Given the description of an element on the screen output the (x, y) to click on. 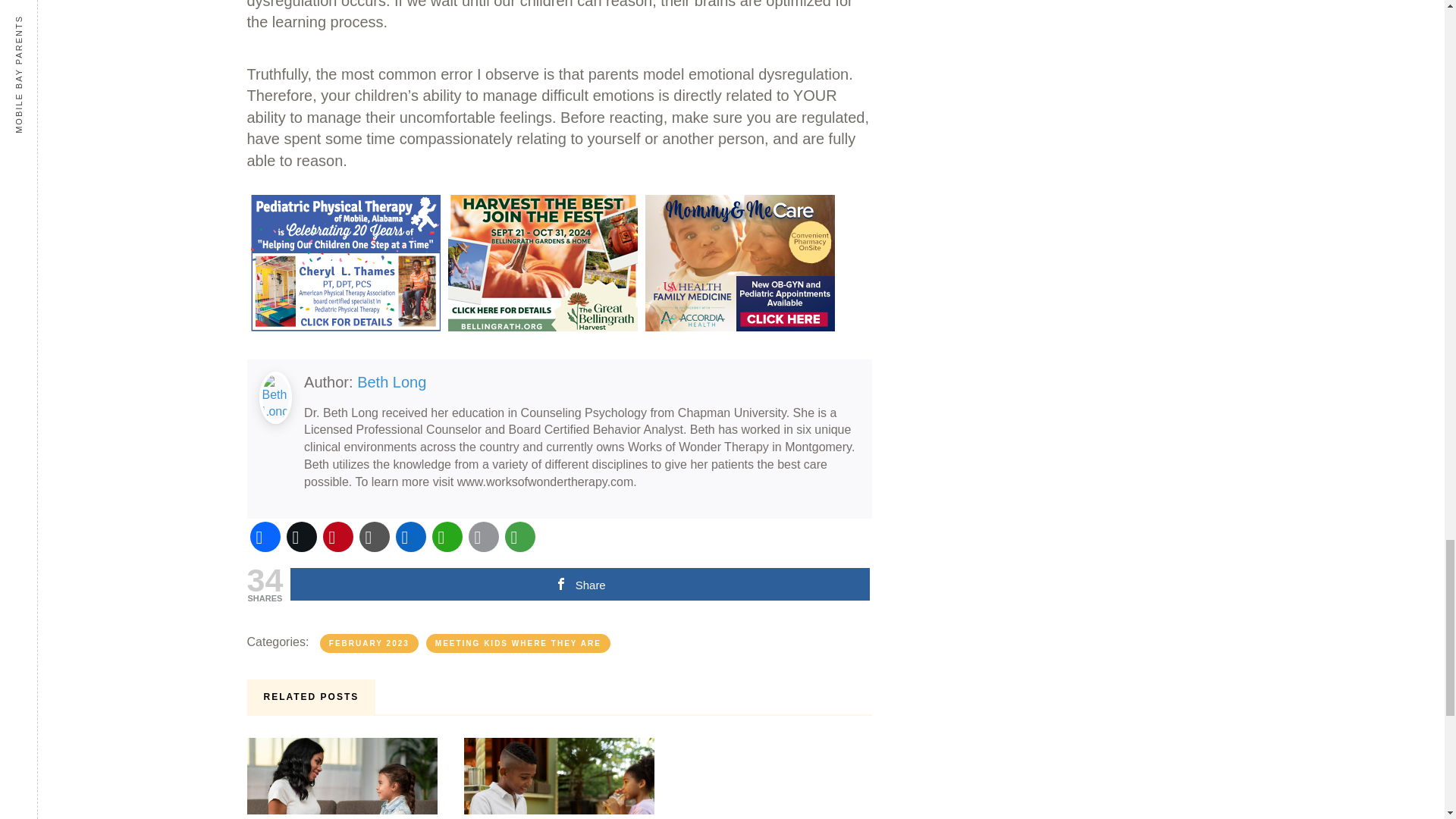
WhatsApp (447, 536)
Pinterest (338, 536)
LinkedIn (411, 536)
More Options (520, 536)
Copy Link (374, 536)
Email This (483, 536)
Facebook (265, 536)
